Given the description of an element on the screen output the (x, y) to click on. 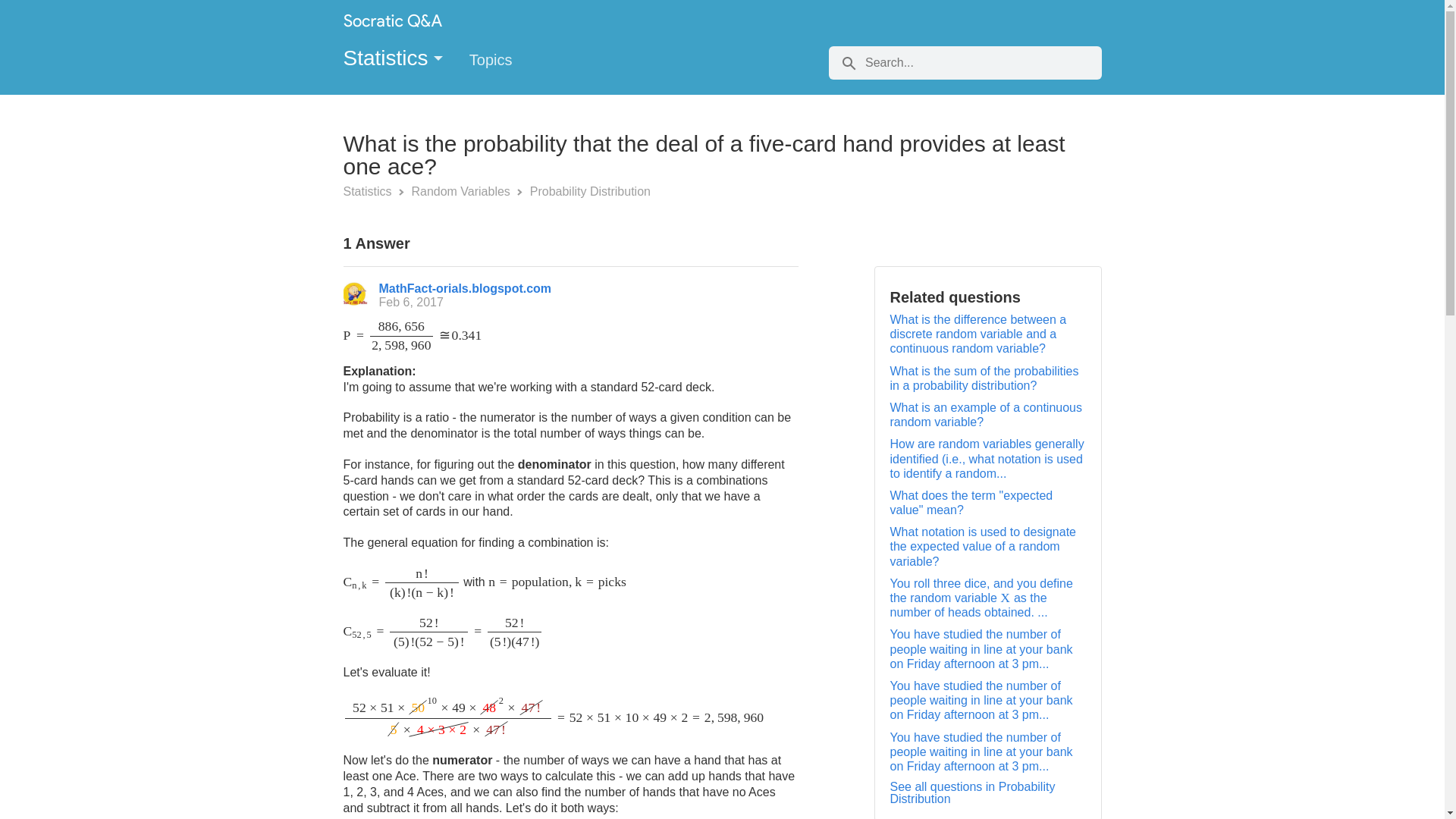
What does the term "expected value" mean? (970, 502)
Random Variables (461, 191)
Topics (503, 63)
See all questions in Probability Distribution (972, 792)
Statistics (392, 58)
Probability Distribution (589, 191)
Statistics (368, 191)
What is an example of a continuous random variable? (985, 414)
